Given the description of an element on the screen output the (x, y) to click on. 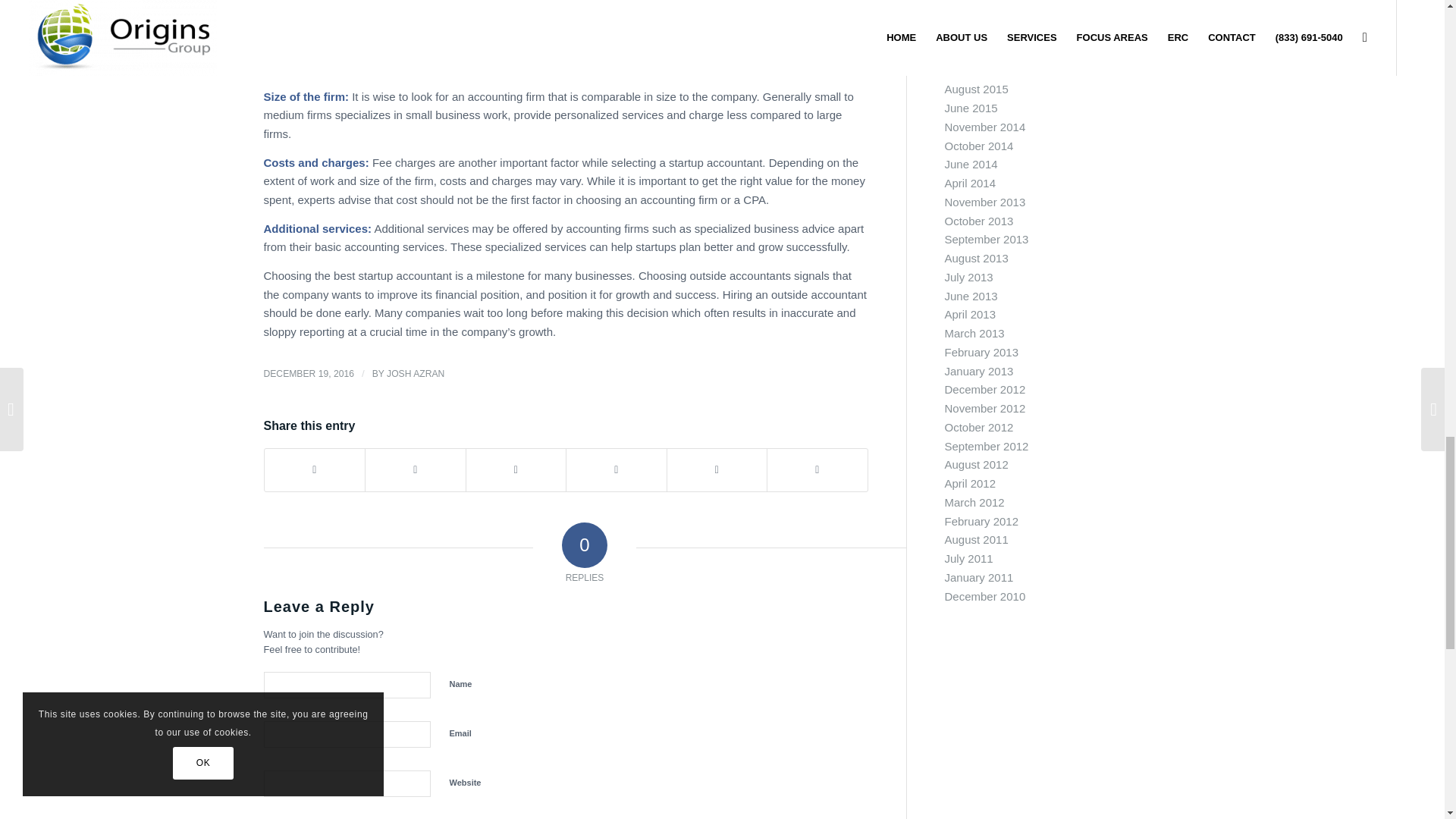
JOSH AZRAN (415, 373)
Posts by Josh Azran (415, 373)
